Given the description of an element on the screen output the (x, y) to click on. 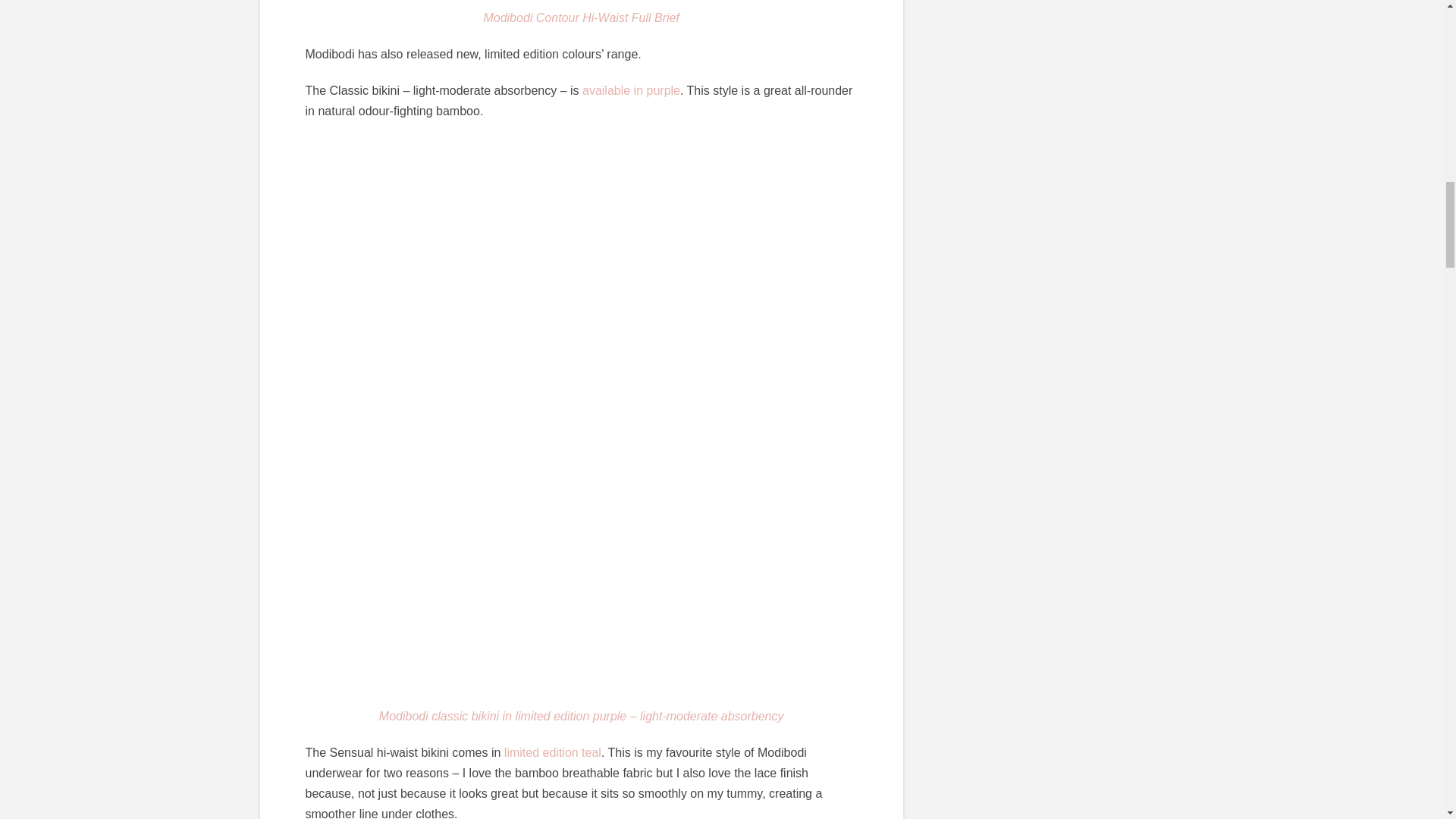
Modibodi Contour Hi-Waist Full Brief (580, 16)
available in purple (630, 90)
